Given the description of an element on the screen output the (x, y) to click on. 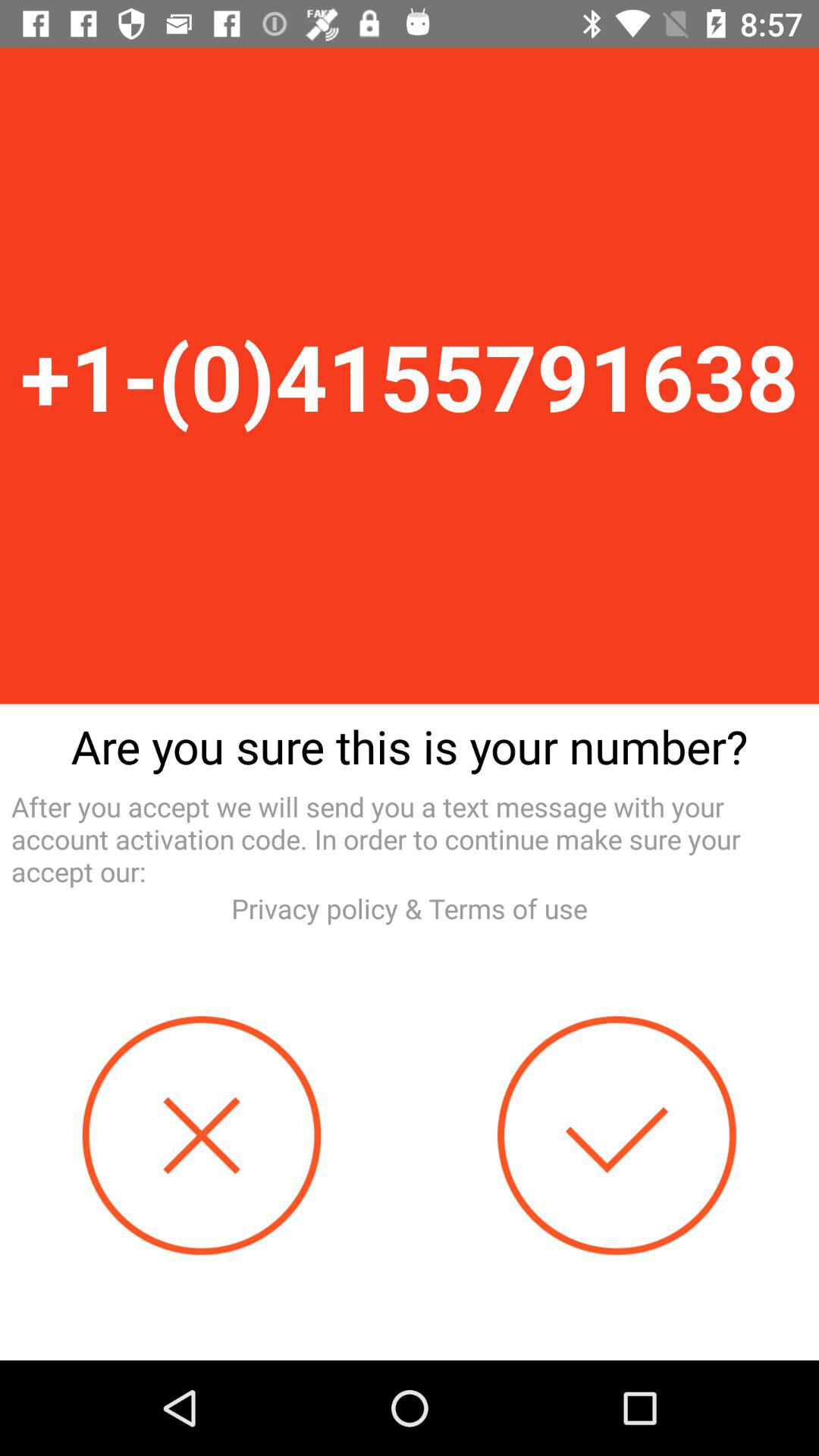
unselect option (201, 1135)
